Given the description of an element on the screen output the (x, y) to click on. 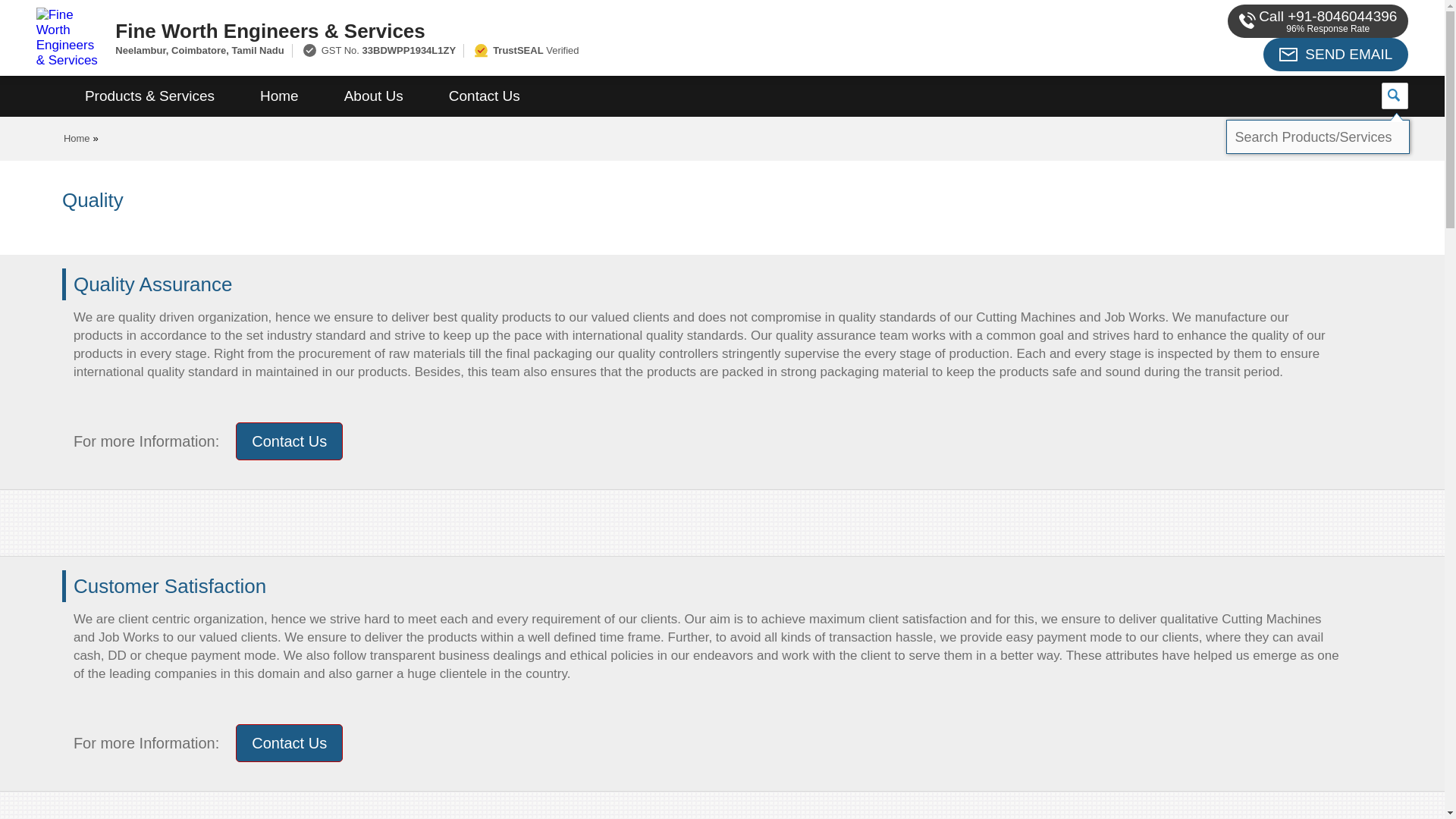
Home (279, 96)
Contact Us (484, 96)
About Us (373, 96)
Home (77, 138)
